Given the description of an element on the screen output the (x, y) to click on. 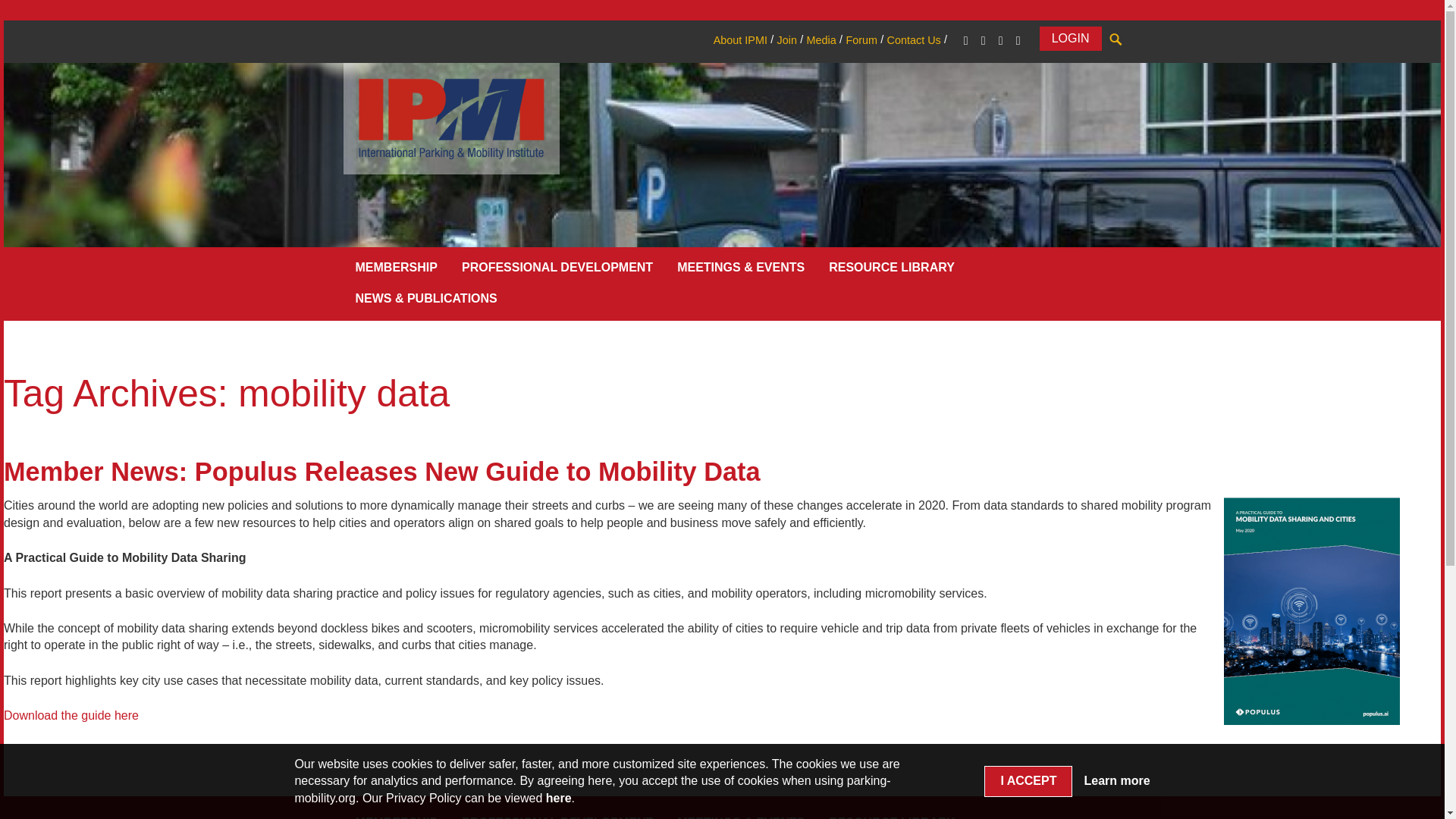
Forum (861, 39)
RESOURCE LIBRARY (891, 270)
LOGIN (1070, 38)
Media (821, 39)
Join (786, 39)
Contact Us (913, 39)
PROFESSIONAL DEVELOPMENT (557, 270)
MEMBERSHIP (395, 270)
IPMI (450, 117)
About IPMI (740, 39)
